Given the description of an element on the screen output the (x, y) to click on. 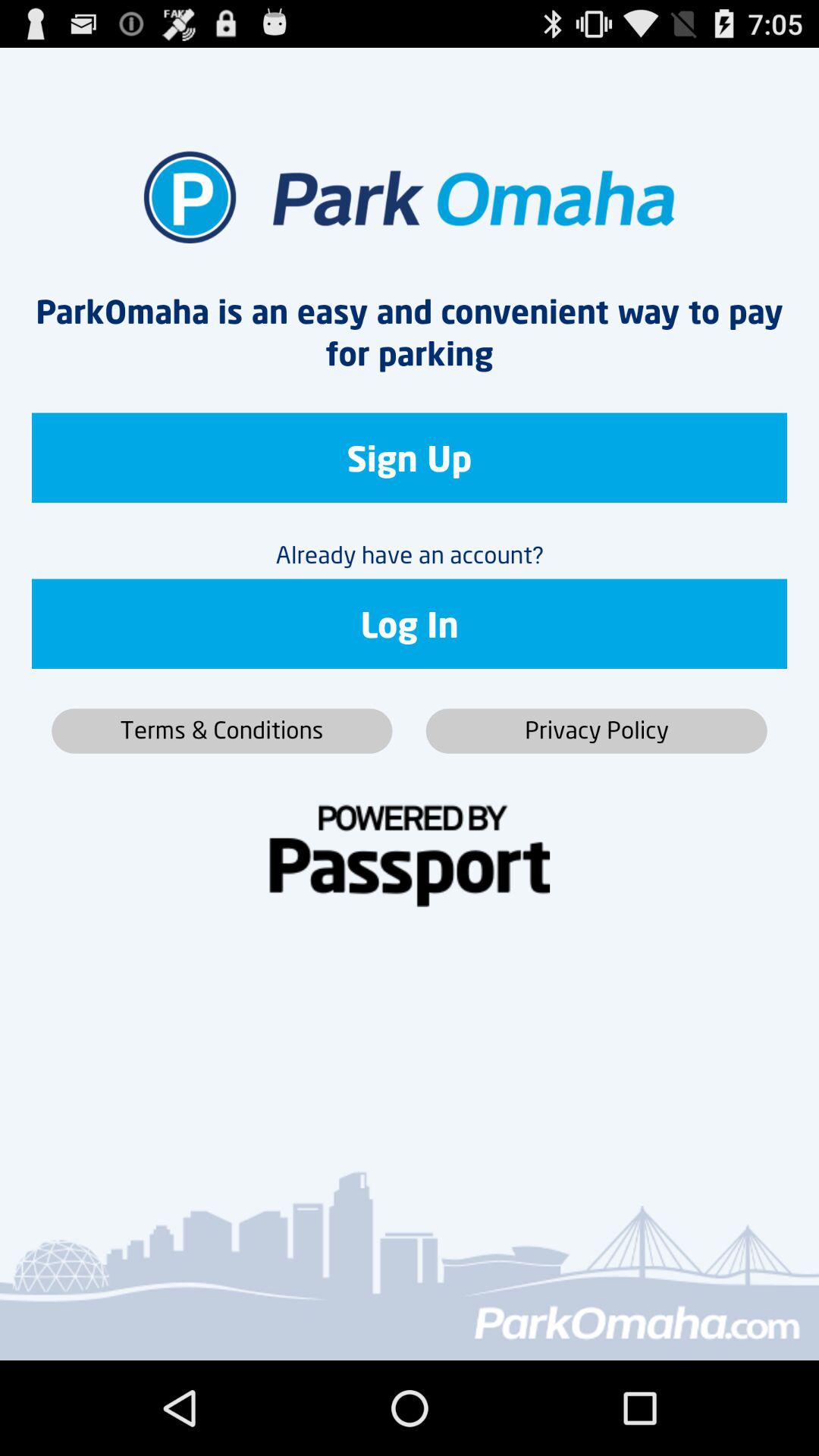
scroll to privacy policy icon (596, 730)
